Given the description of an element on the screen output the (x, y) to click on. 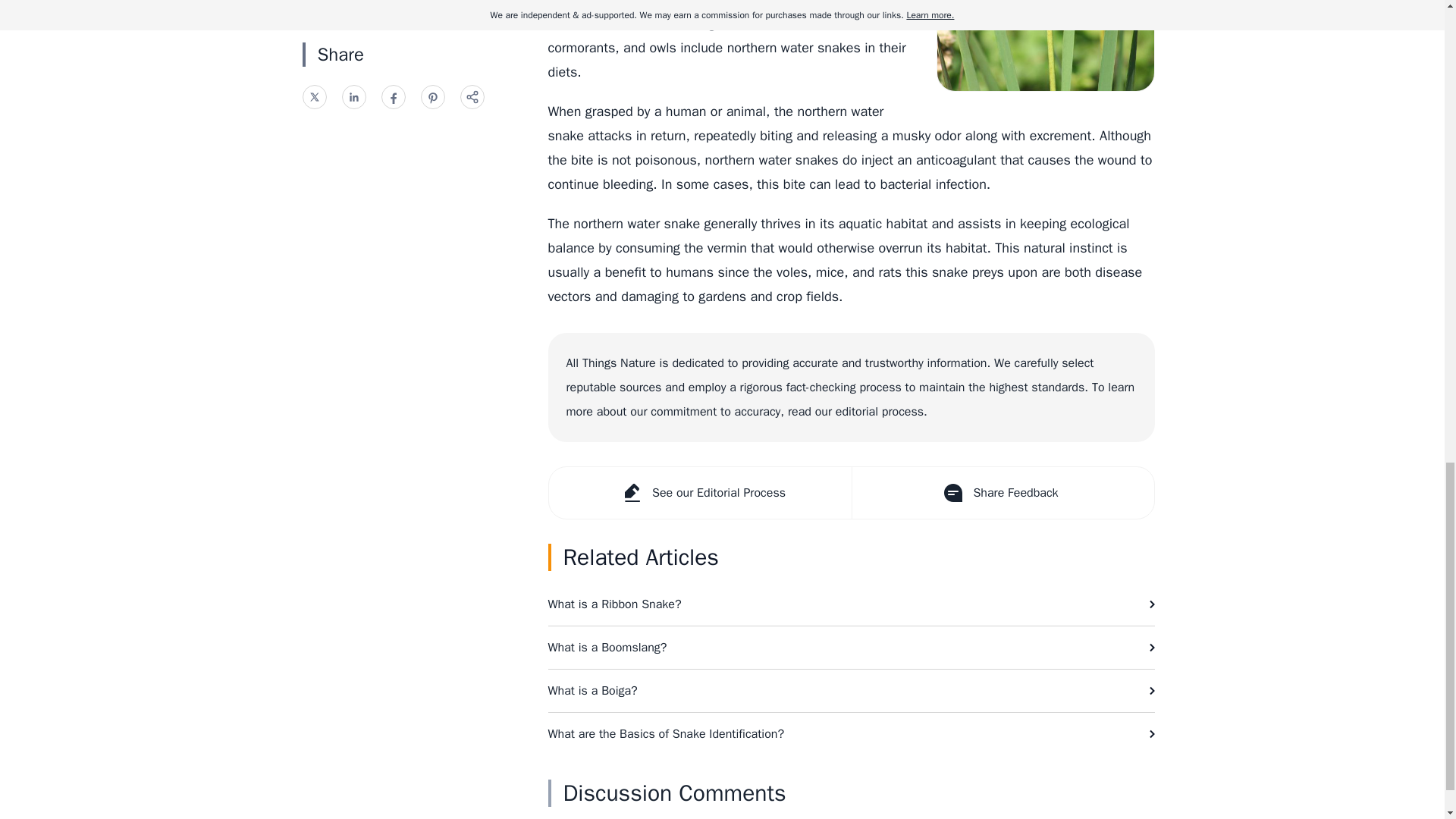
What are the Basics of Snake Identification? (850, 733)
See our Editorial Process (699, 492)
What is a Boiga? (850, 690)
Share Feedback (1001, 492)
What is a Boomslang? (850, 647)
What is a Ribbon Snake? (850, 604)
